Given the description of an element on the screen output the (x, y) to click on. 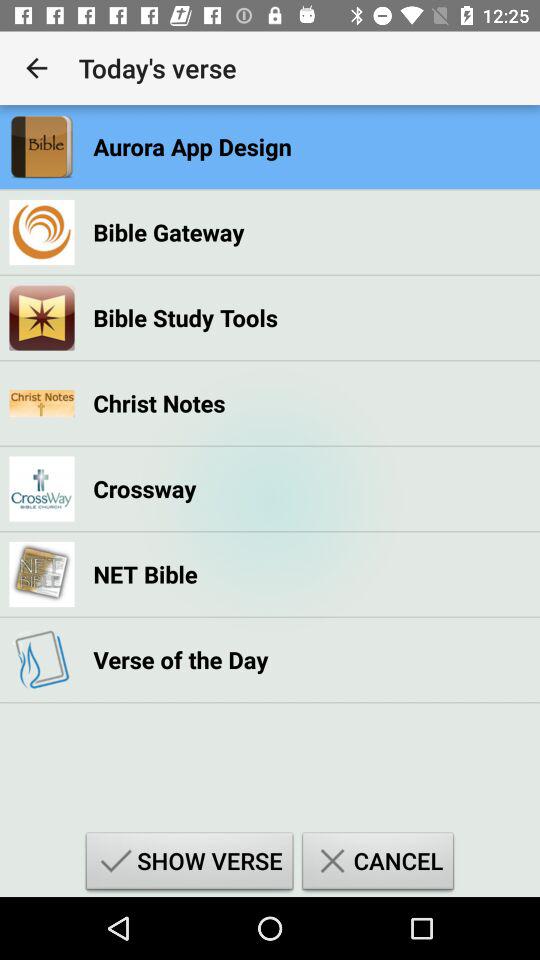
turn off the item next to show verse item (377, 863)
